Given the description of an element on the screen output the (x, y) to click on. 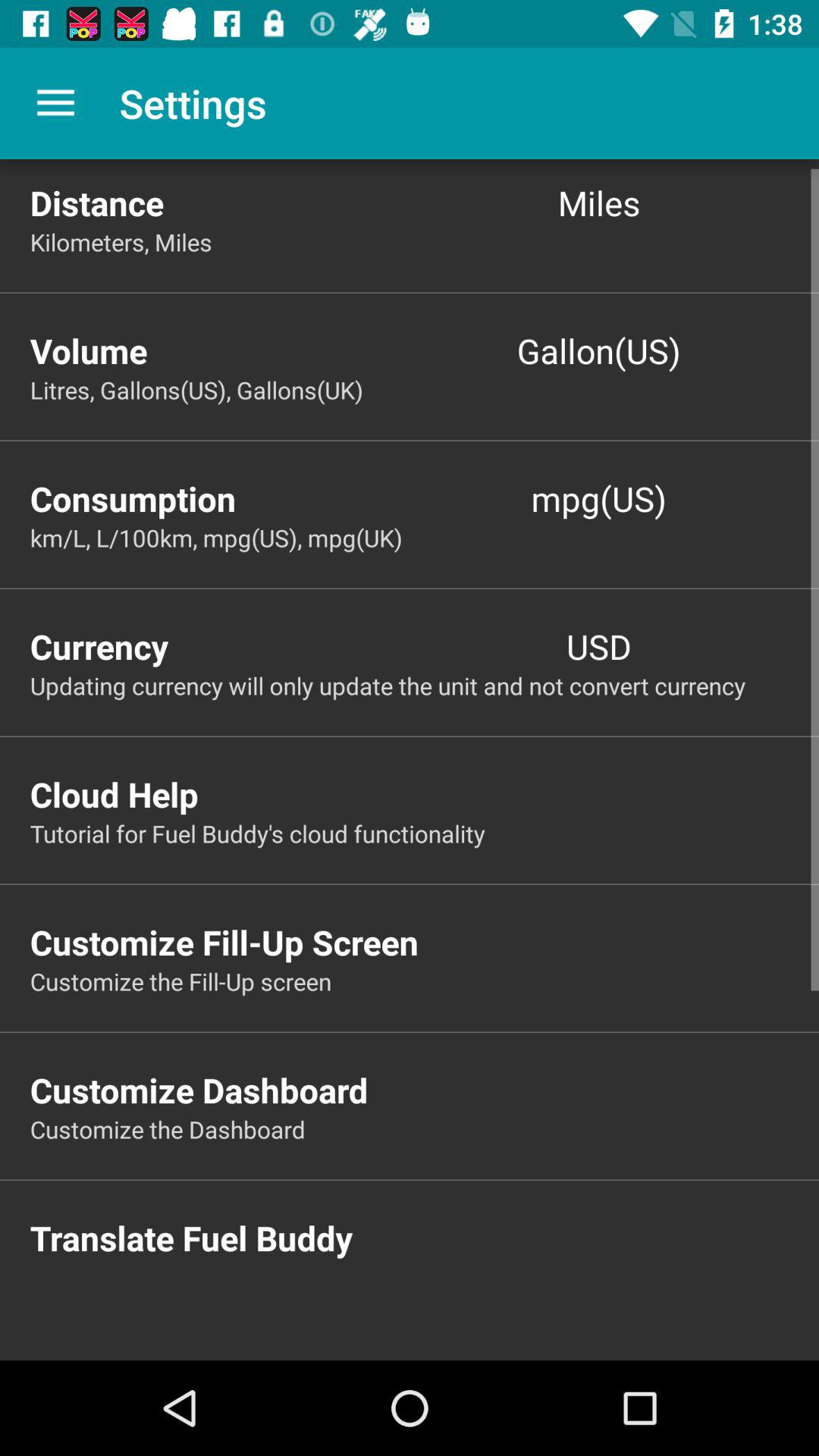
turn on icon next to the mpg(us) item (219, 498)
